Given the description of an element on the screen output the (x, y) to click on. 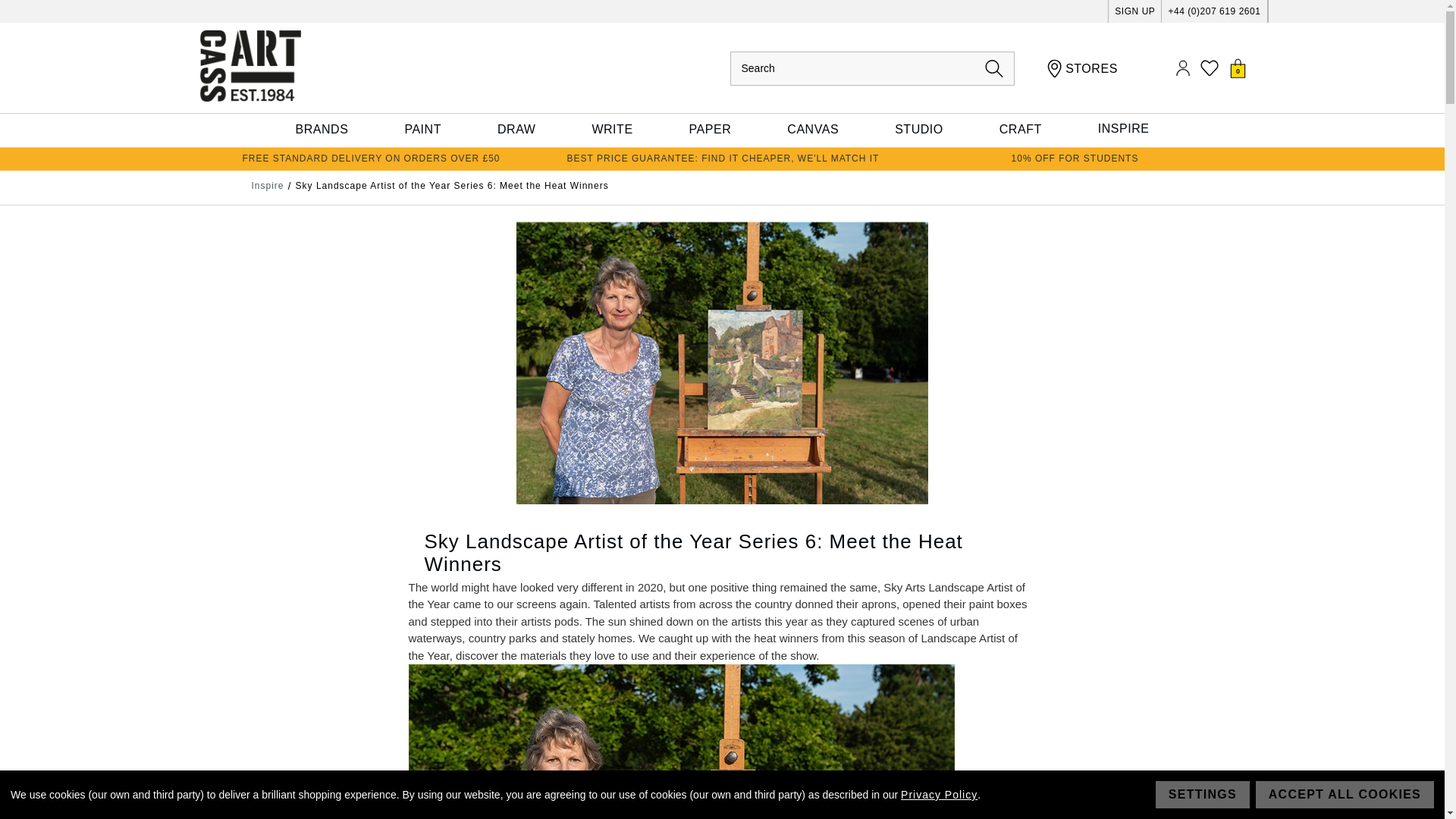
STORES (1082, 67)
SIGN UP (1134, 11)
Cass Art (249, 65)
BRANDS (322, 130)
